Given the description of an element on the screen output the (x, y) to click on. 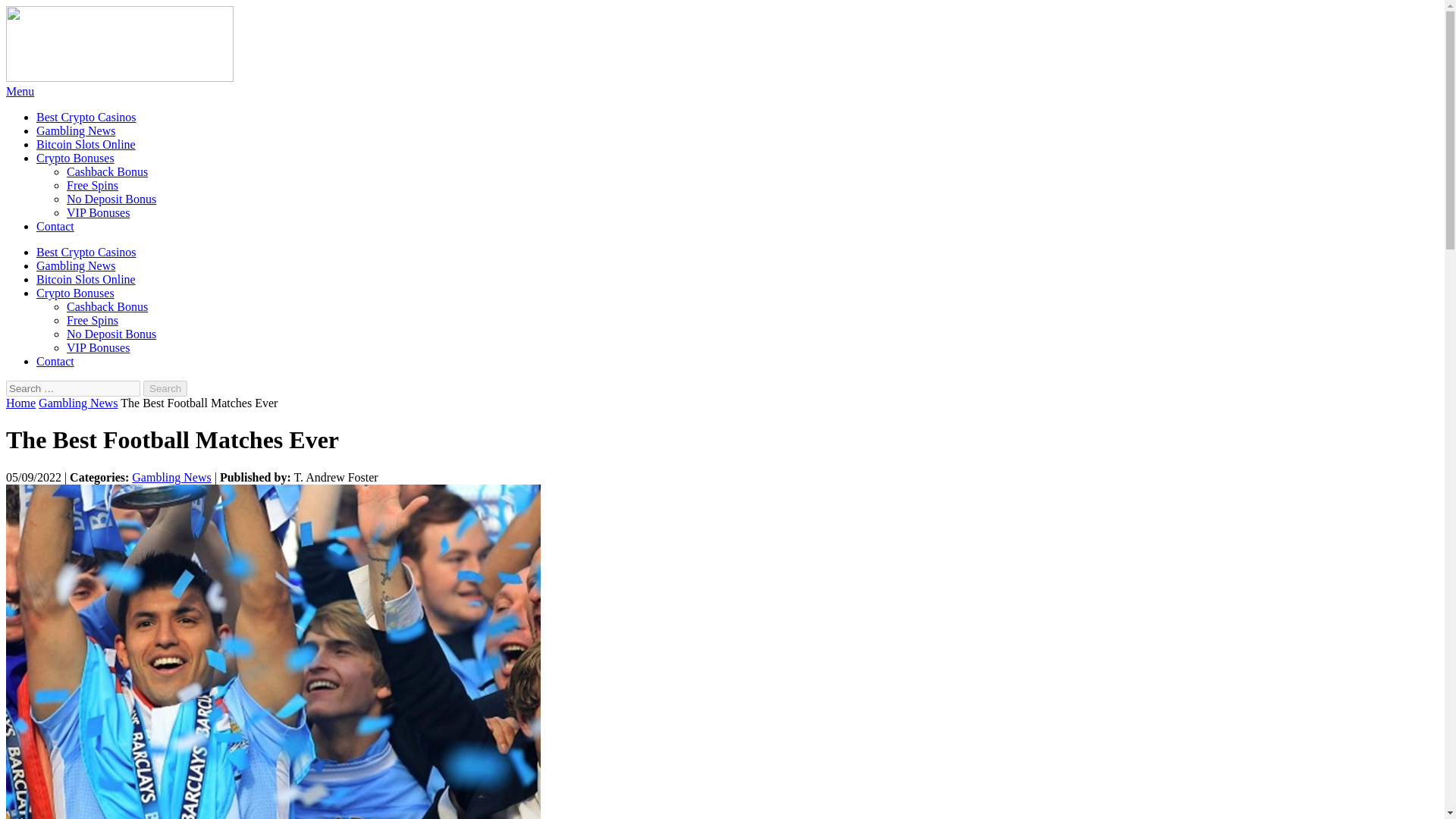
Contact (55, 226)
Best Crypto Casinos (86, 251)
Bitcoin Slots Online (85, 144)
Cashback Bonus (107, 171)
Bitcoin Slots Online (85, 278)
Free Spins (91, 319)
Gambling News (78, 402)
Free Spins (91, 185)
Contact (55, 360)
Gambling News (75, 265)
